Given the description of an element on the screen output the (x, y) to click on. 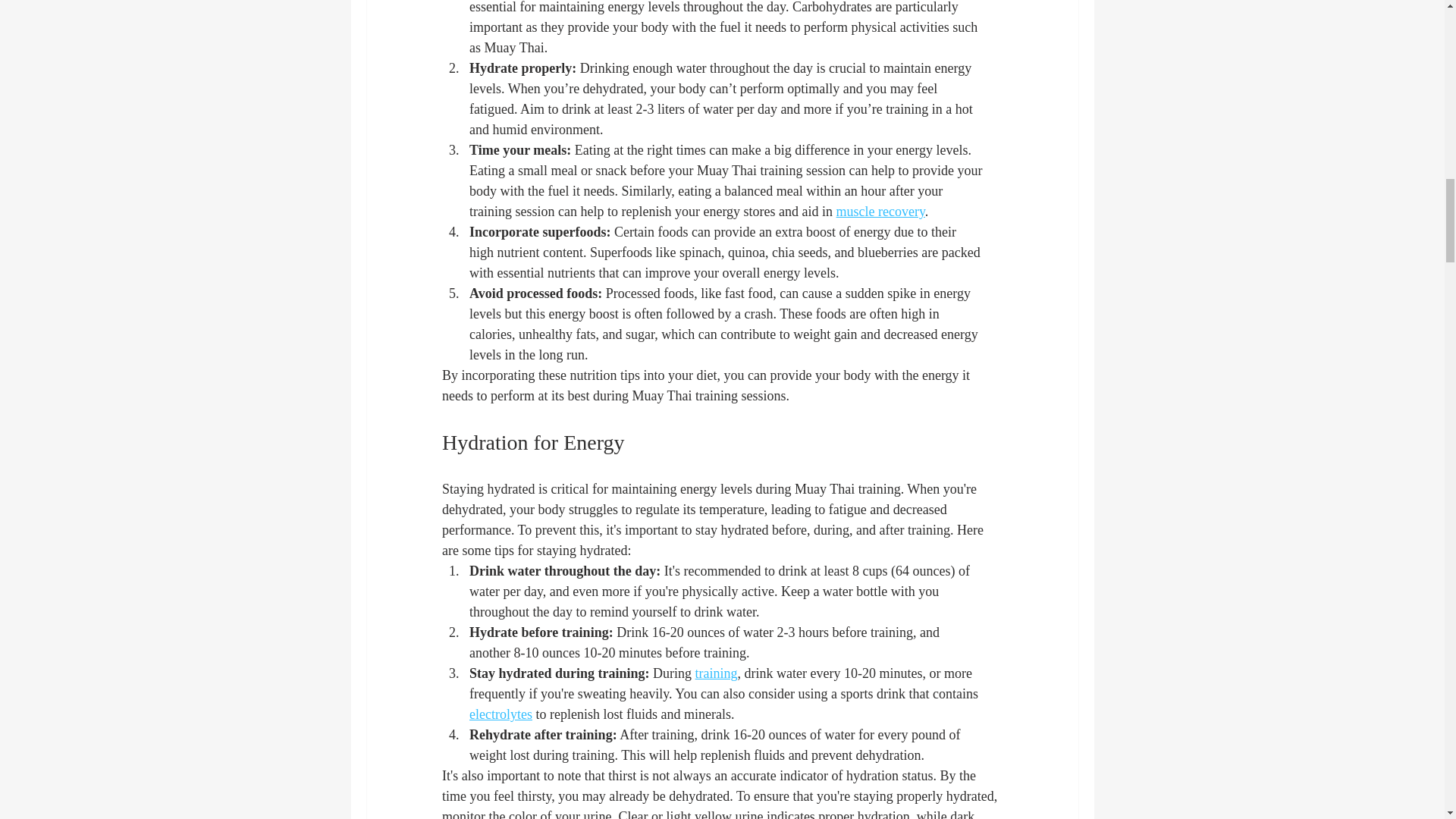
training (715, 672)
muscle recovery (879, 211)
electrolytes (499, 713)
